Given the description of an element on the screen output the (x, y) to click on. 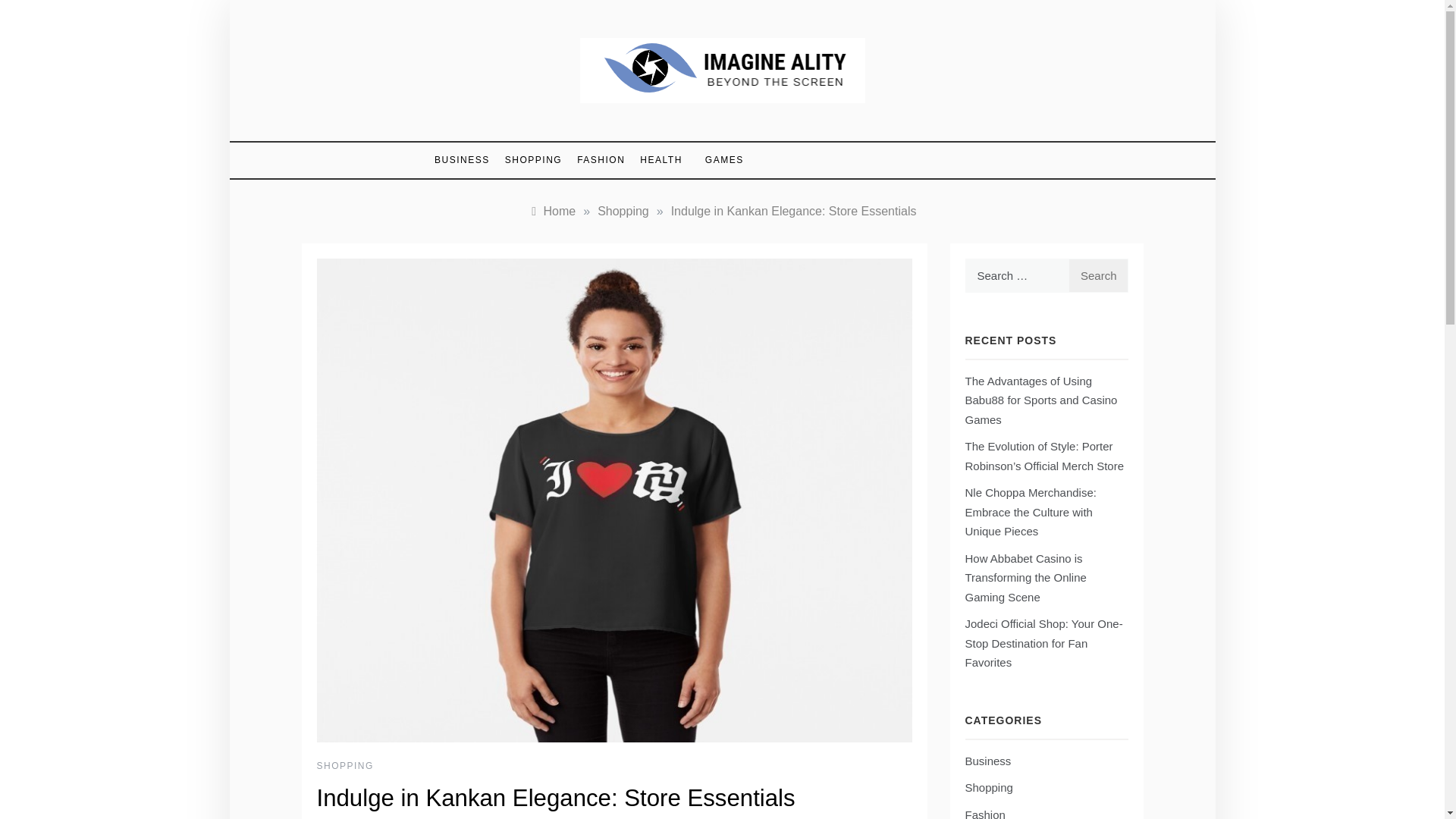
SHOPPING (345, 765)
Search (1098, 275)
BUSINESS (465, 160)
Shopping (622, 210)
HEALTH (659, 160)
Fashion (983, 813)
The Advantages of Using Babu88 for Sports and Casino Games (1039, 399)
GAMES (717, 160)
Search (1098, 275)
